Given the description of an element on the screen output the (x, y) to click on. 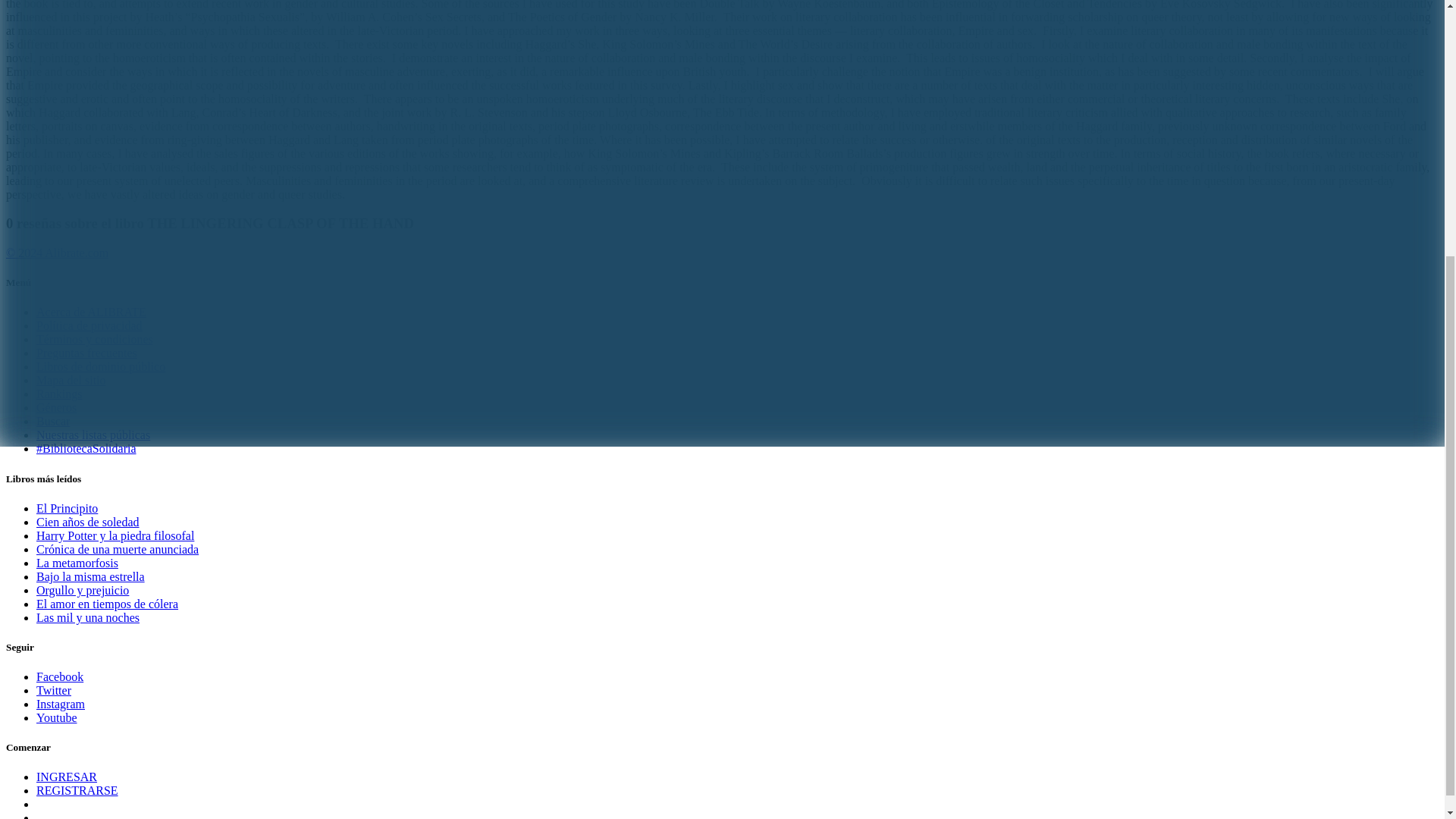
La metamorfosis (76, 562)
Preguntas frecuentes (86, 352)
Bajo la misma estrella (90, 576)
Twitter (53, 689)
INGRESAR (66, 776)
Acerca de ALIBRATE (91, 311)
Instagram (60, 703)
Facebook (59, 676)
Buscar (52, 420)
Youtube (56, 717)
